Given the description of an element on the screen output the (x, y) to click on. 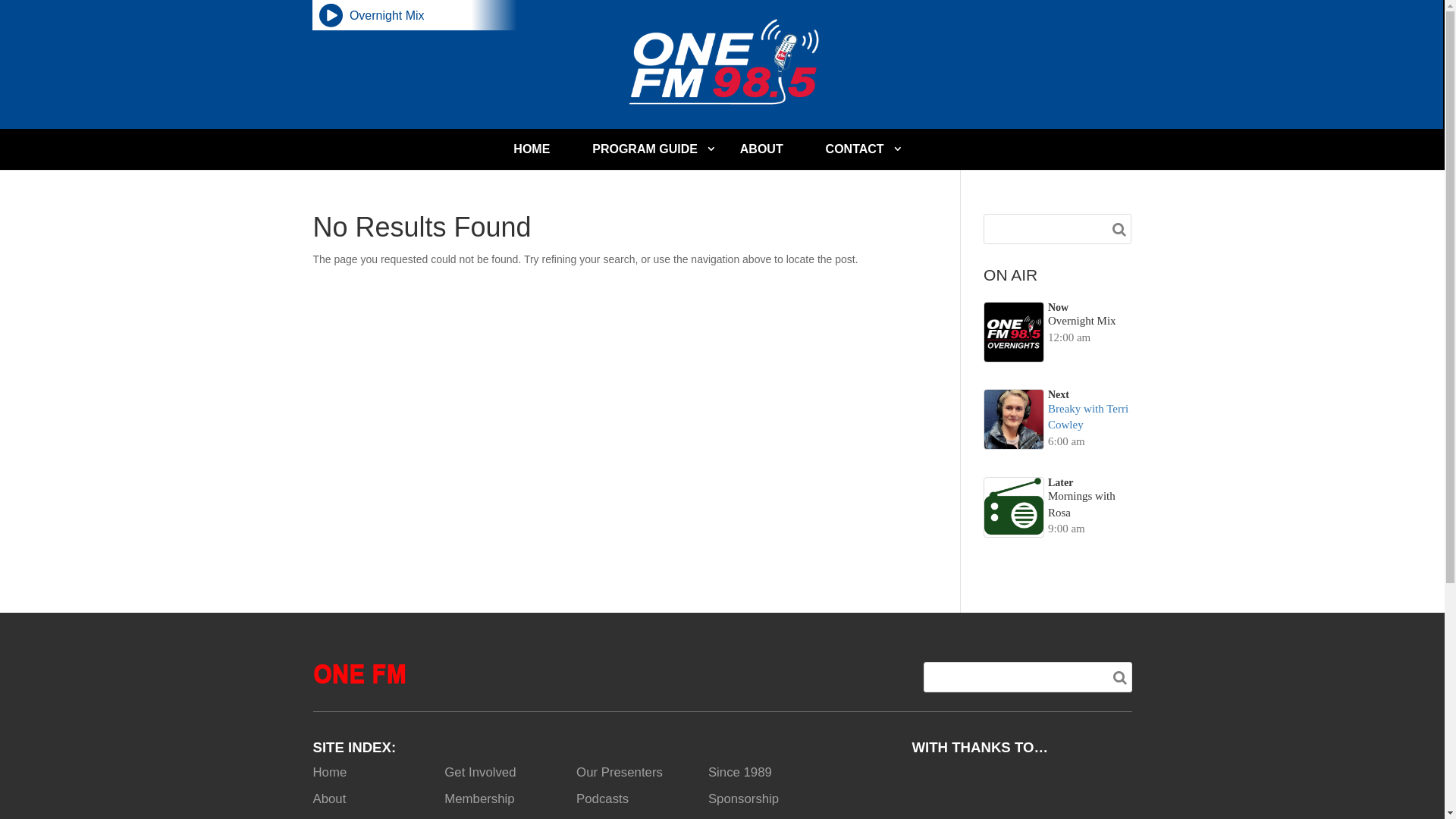
Home Element type: text (329, 772)
Our Presenters Element type: text (619, 772)
Since 1989 Element type: text (739, 772)
About Element type: text (328, 798)
Get Involved Element type: text (479, 772)
HOME Element type: text (531, 148)
PROGRAM GUIDE Element type: text (644, 148)
Membership Element type: text (479, 798)
Sponsorship Element type: text (743, 798)
CONTACT Element type: text (854, 148)
ABOUT Element type: text (761, 148)
Podcasts Element type: text (602, 798)
